Given the description of an element on the screen output the (x, y) to click on. 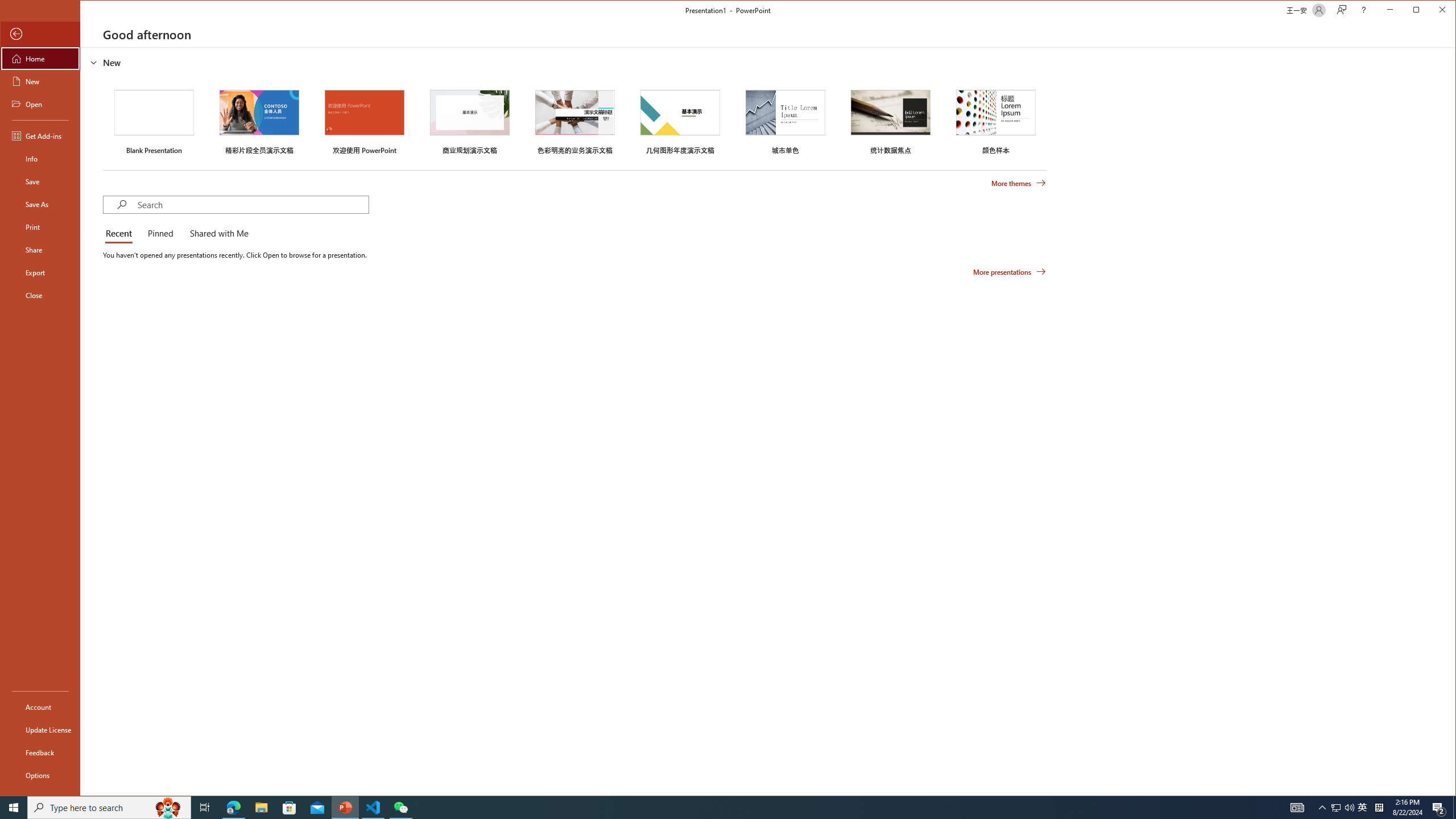
Back (40, 34)
Pinned (160, 234)
More presentations (1009, 271)
Save As (40, 203)
New (40, 80)
